Given the description of an element on the screen output the (x, y) to click on. 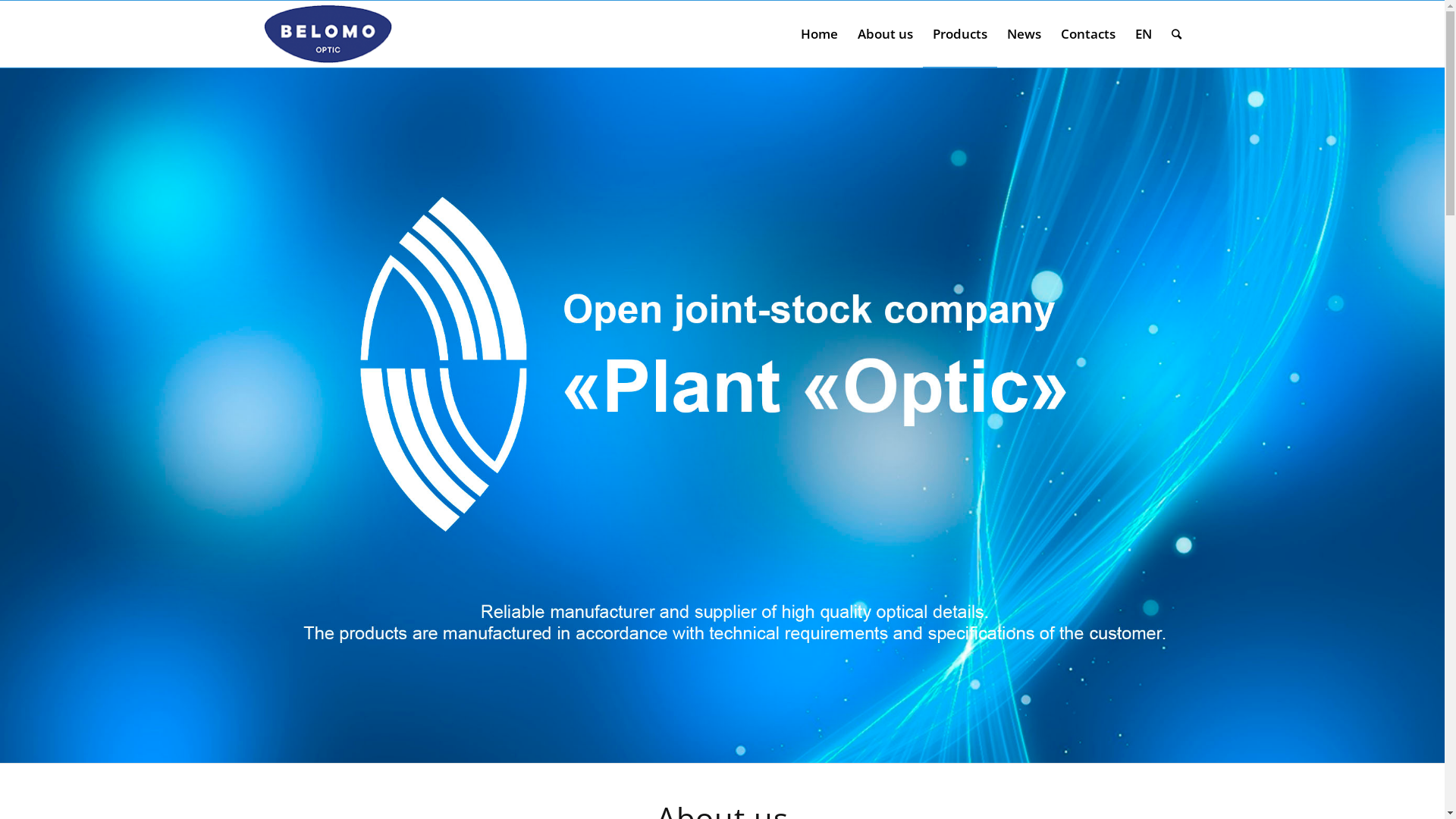
Home Element type: text (818, 33)
About us Element type: text (884, 33)
Products Element type: text (959, 33)
News Element type: text (1023, 33)
EN Element type: text (1143, 33)
